Given the description of an element on the screen output the (x, y) to click on. 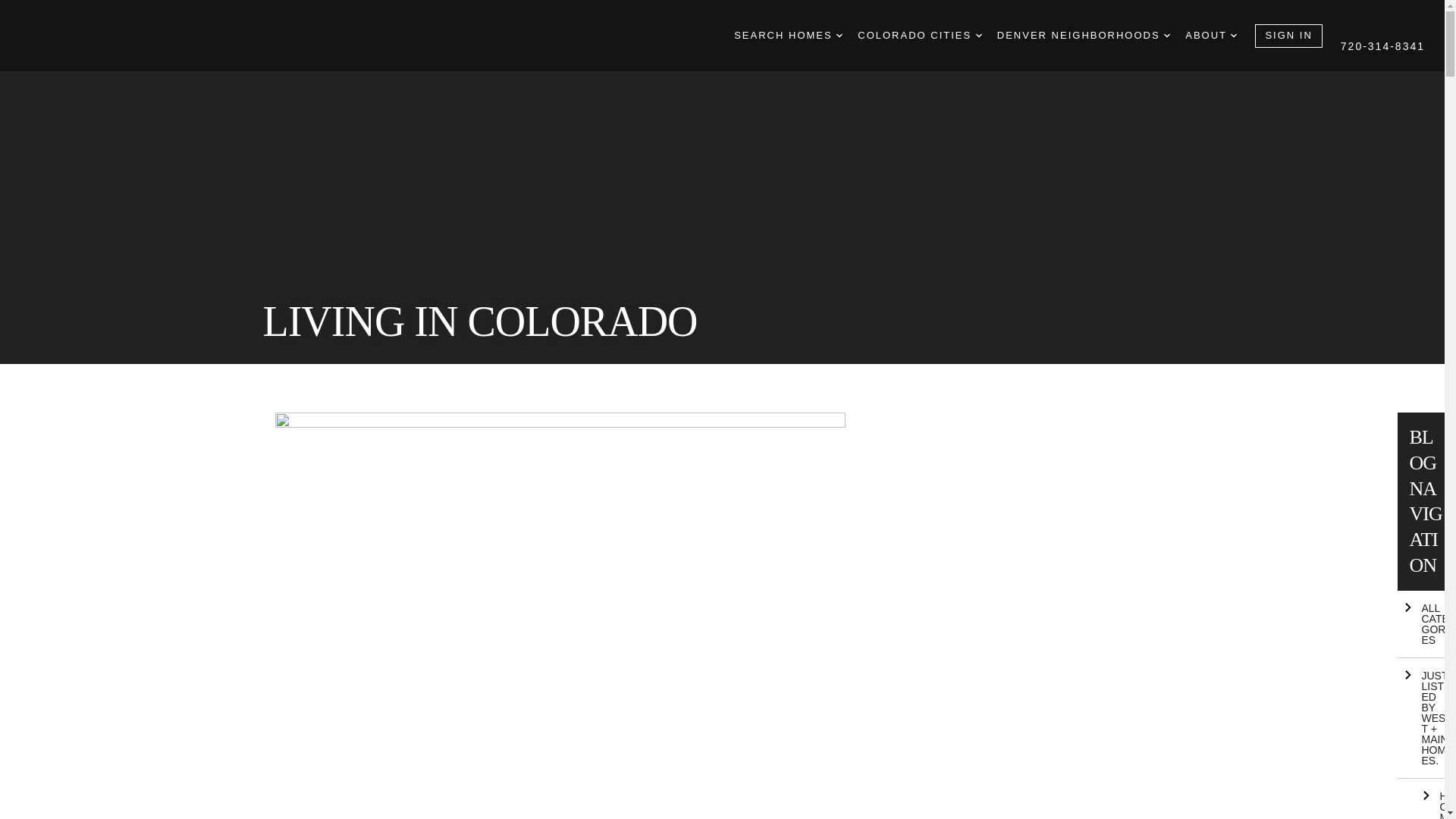
DROPDOWN ARROW (1233, 35)
DROPDOWN ARROW (1166, 35)
COLORADO CITIES DROPDOWN ARROW (919, 35)
SEARCH HOMES DROPDOWN ARROW (788, 35)
DROPDOWN ARROW (839, 35)
DROPDOWN ARROW (978, 35)
